Given the description of an element on the screen output the (x, y) to click on. 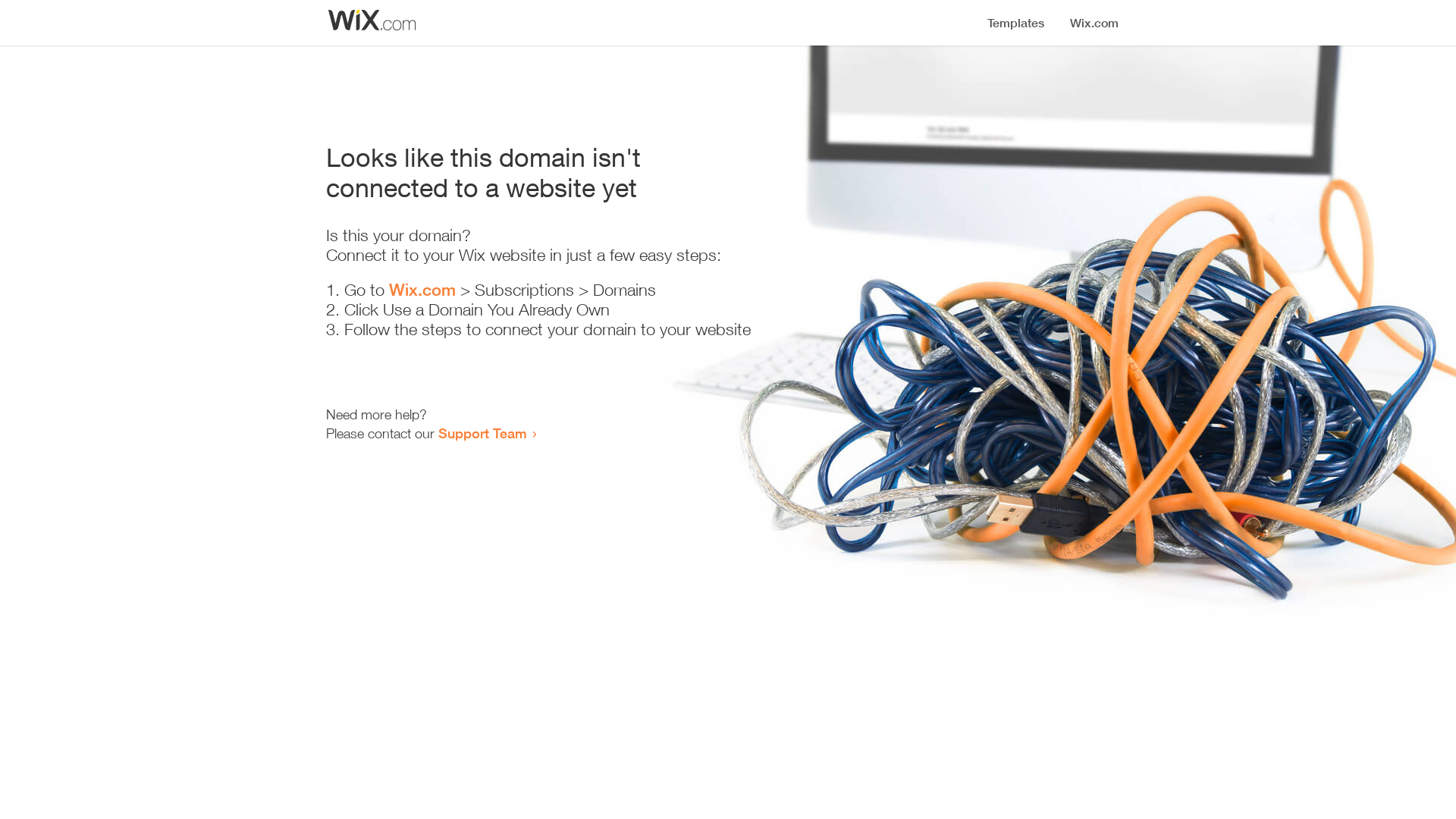
Wix.com Element type: text (422, 289)
Support Team Element type: text (482, 432)
